Given the description of an element on the screen output the (x, y) to click on. 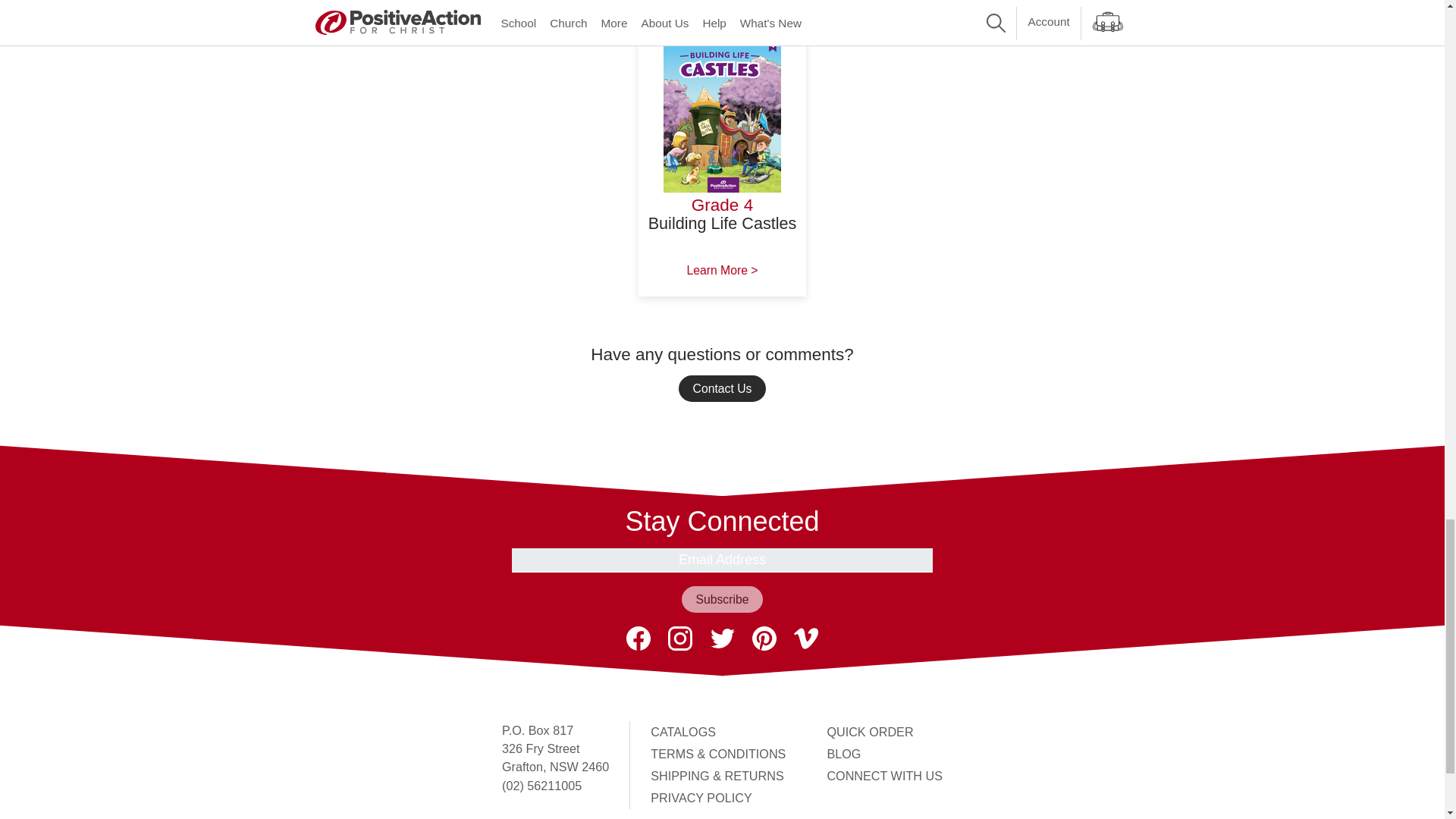
CONNECT WITH US (884, 775)
PRIVACY POLICY (700, 797)
QUICK ORDER (869, 731)
Subscribe (721, 599)
CATALOGS (683, 731)
Contact Us (721, 388)
BLOG (843, 753)
